Given the description of an element on the screen output the (x, y) to click on. 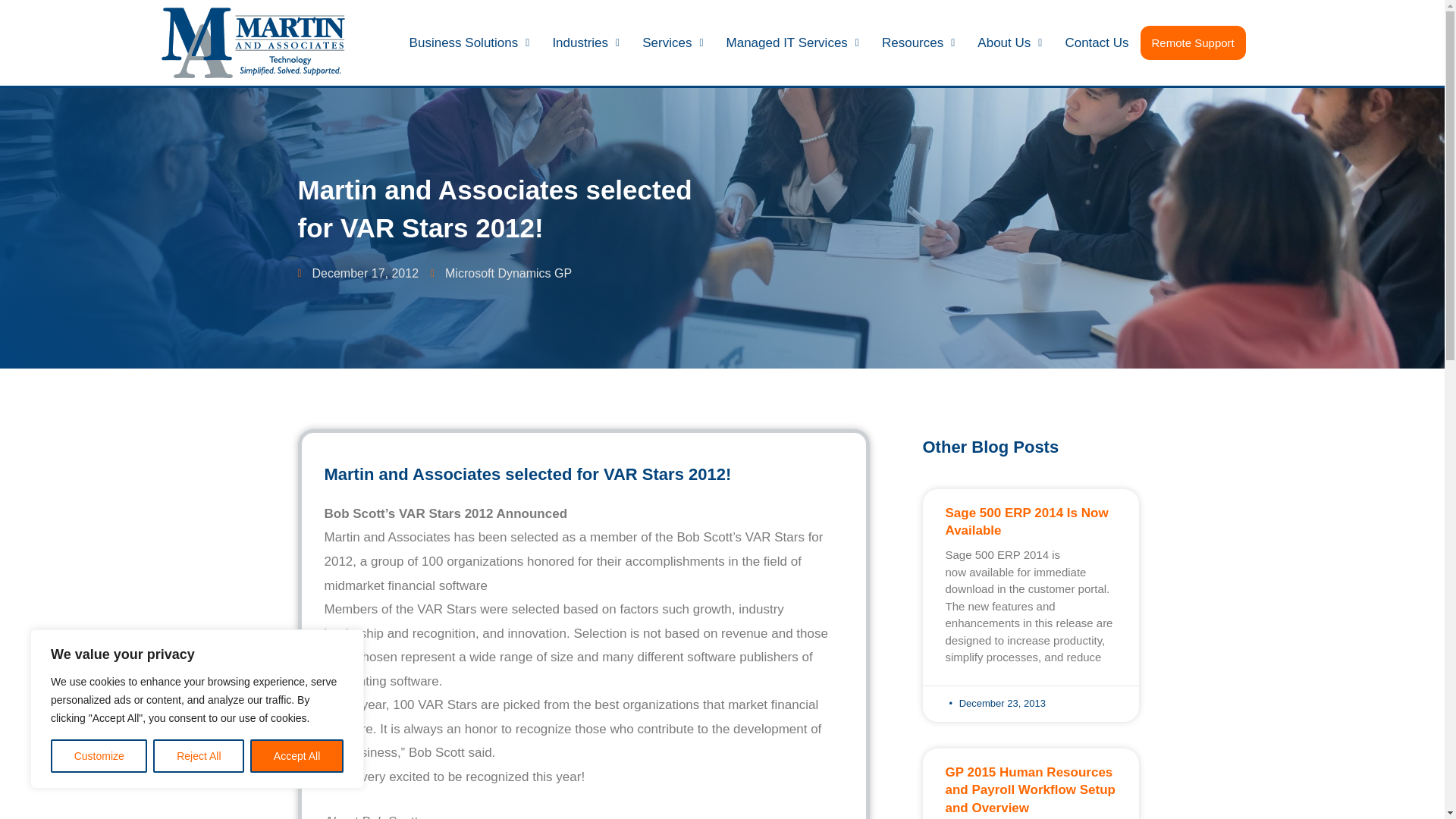
Reject All (198, 756)
Industries (585, 42)
Business Solutions (469, 42)
Accept All (296, 756)
Customize (98, 756)
Services (672, 42)
